Given the description of an element on the screen output the (x, y) to click on. 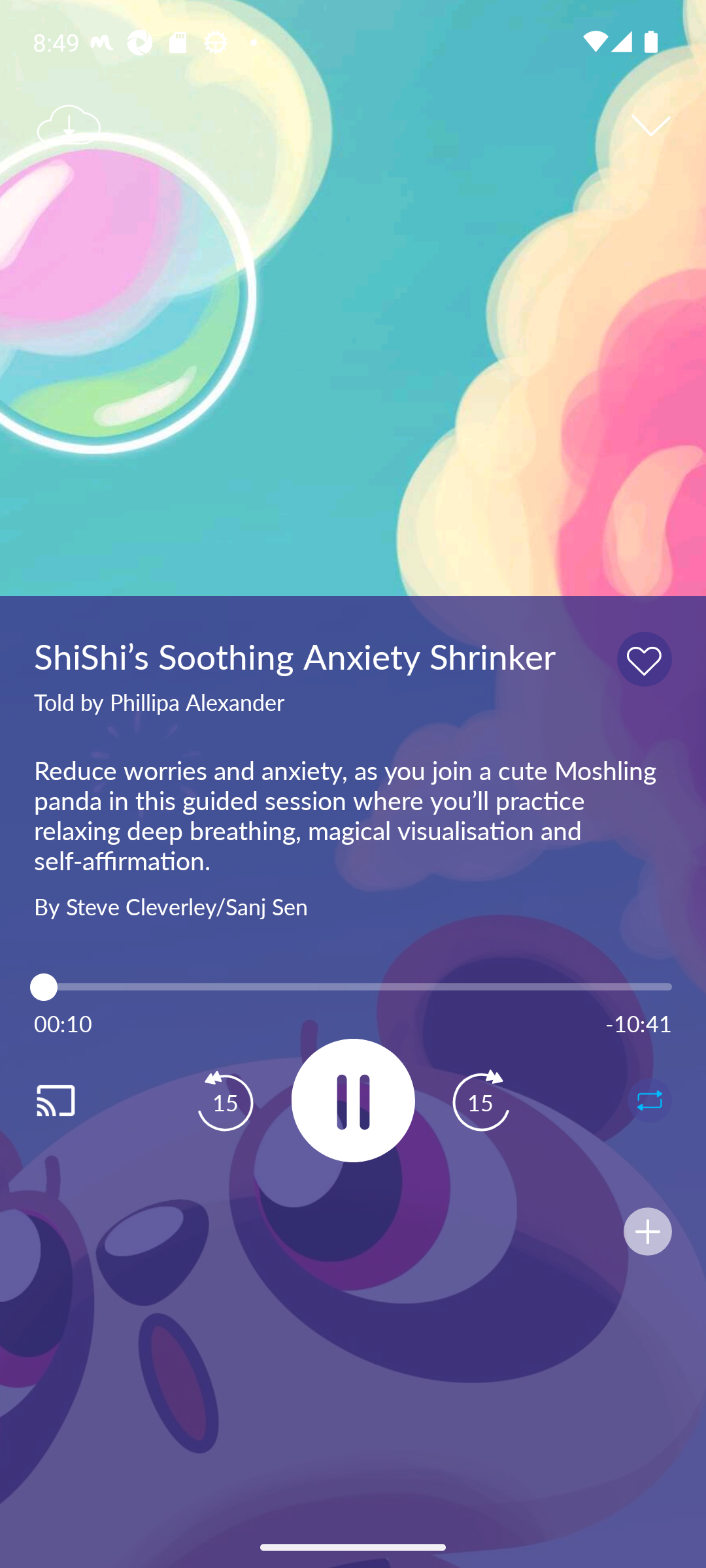
10.0 (352, 986)
Cast. Disconnected (76, 1100)
